Given the description of an element on the screen output the (x, y) to click on. 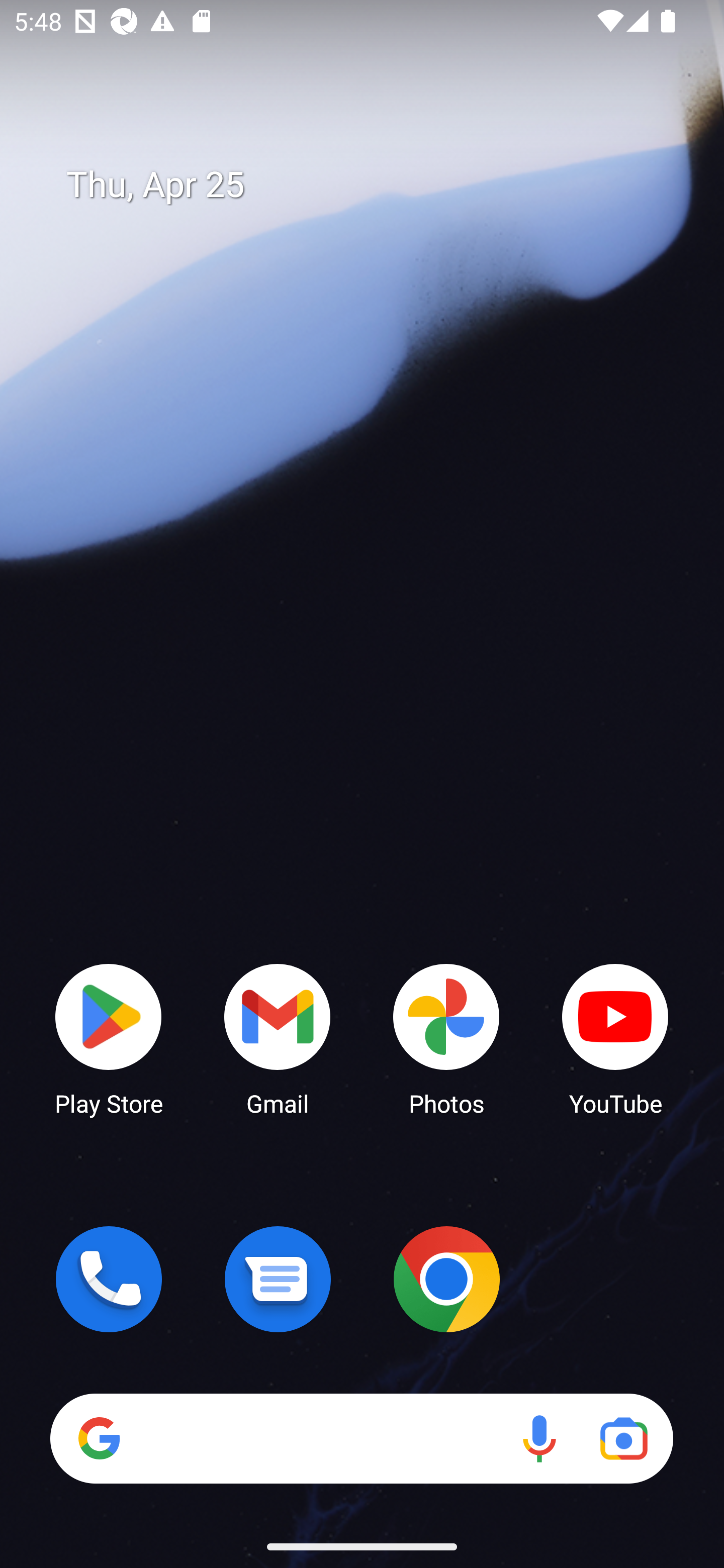
Thu, Apr 25 (375, 184)
Play Store (108, 1038)
Gmail (277, 1038)
Photos (445, 1038)
YouTube (615, 1038)
Phone (108, 1279)
Messages (277, 1279)
Chrome (446, 1279)
Search Voice search Google Lens (361, 1438)
Voice search (539, 1438)
Google Lens (623, 1438)
